Given the description of an element on the screen output the (x, y) to click on. 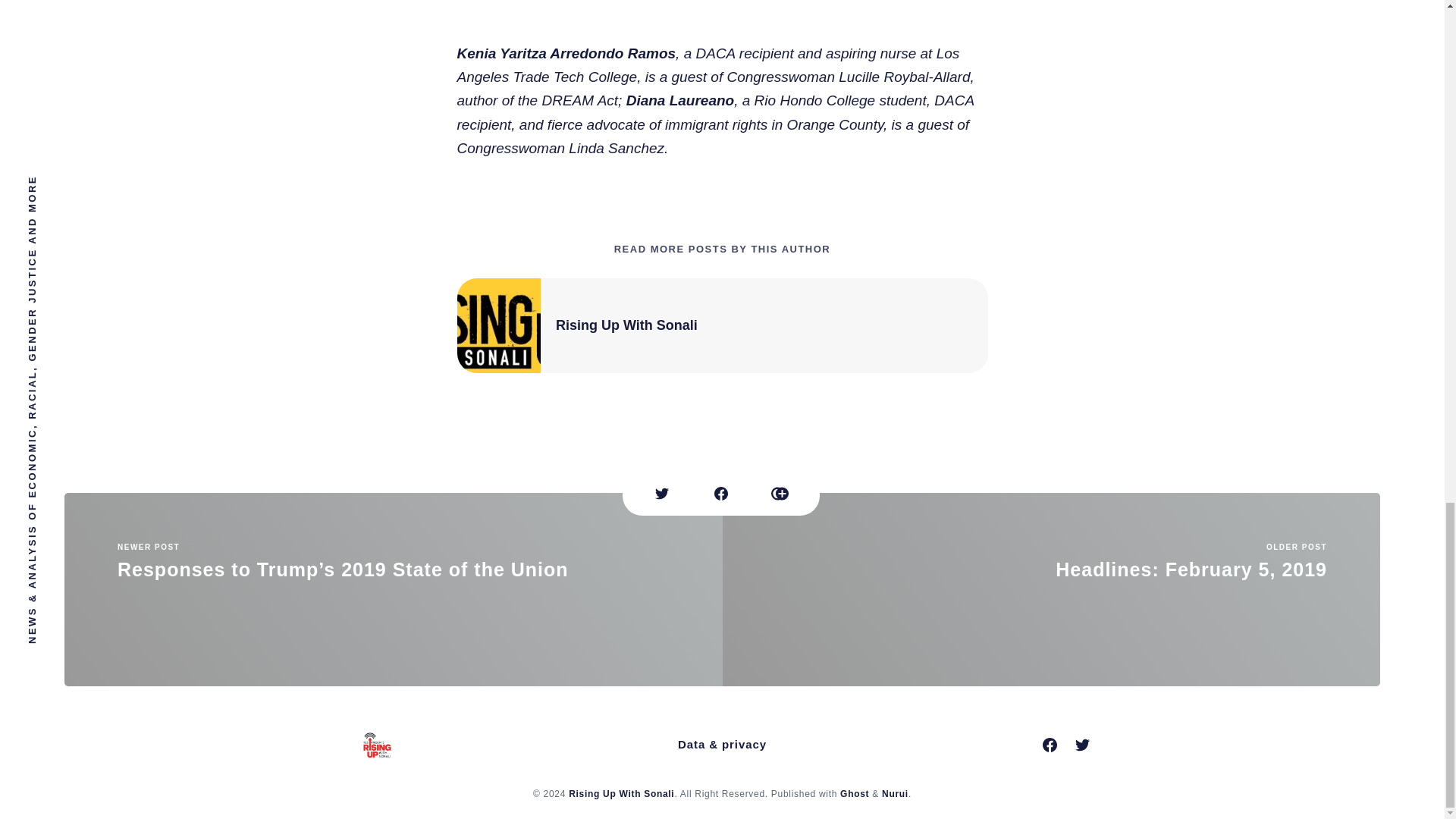
Ghost (1051, 589)
Rising Up With Sonali (854, 793)
Rising Up With Sonali (625, 324)
Nurui (621, 793)
